Given the description of an element on the screen output the (x, y) to click on. 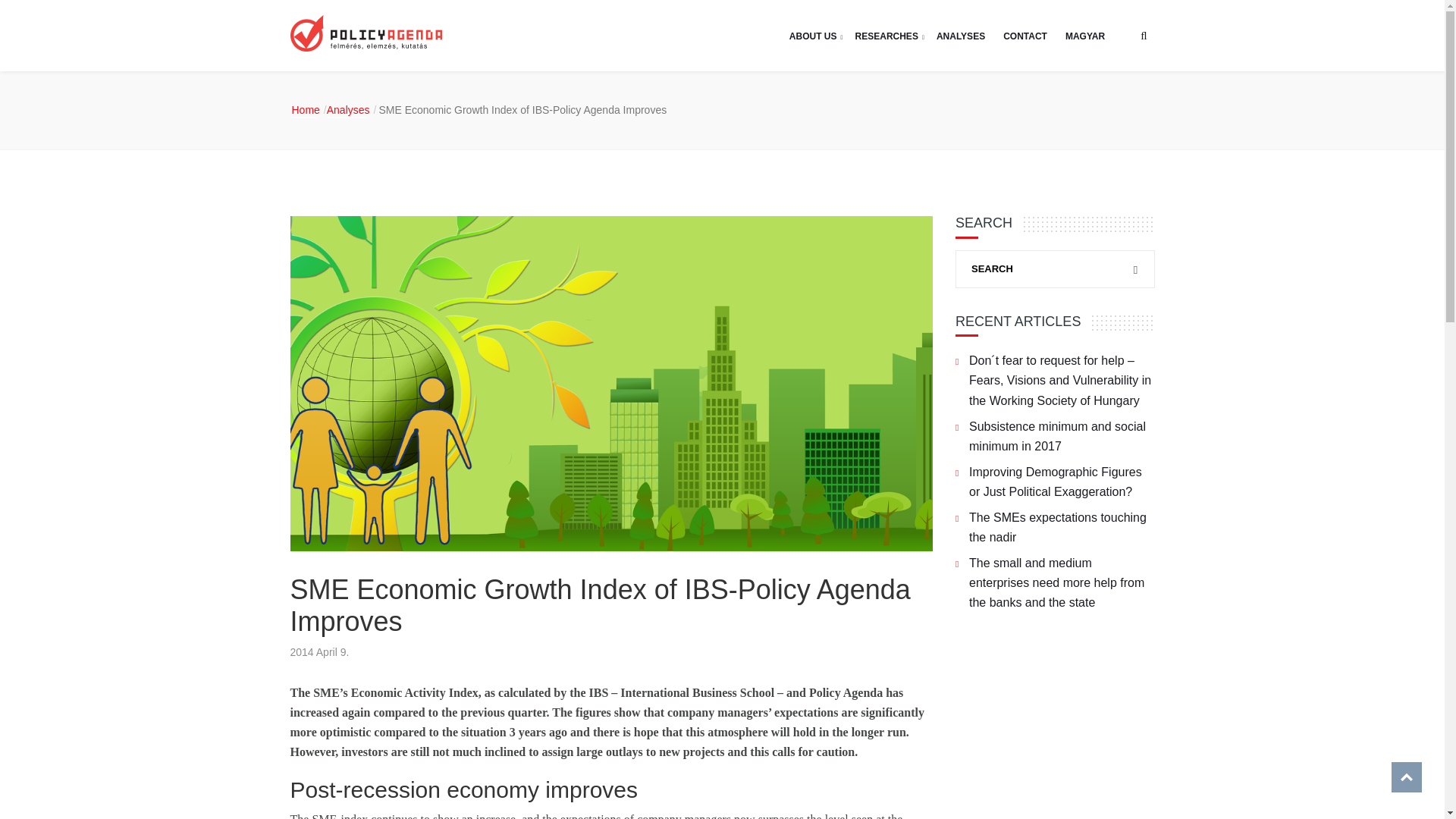
ANALYSES (960, 35)
Subsistence minimum and social minimum in 2017 (1061, 436)
The SMEs expectations touching the nadir (1061, 527)
Search for: (1054, 269)
Home (308, 110)
Search (1093, 142)
ABOUT US (812, 35)
Analyses (351, 110)
